Given the description of an element on the screen output the (x, y) to click on. 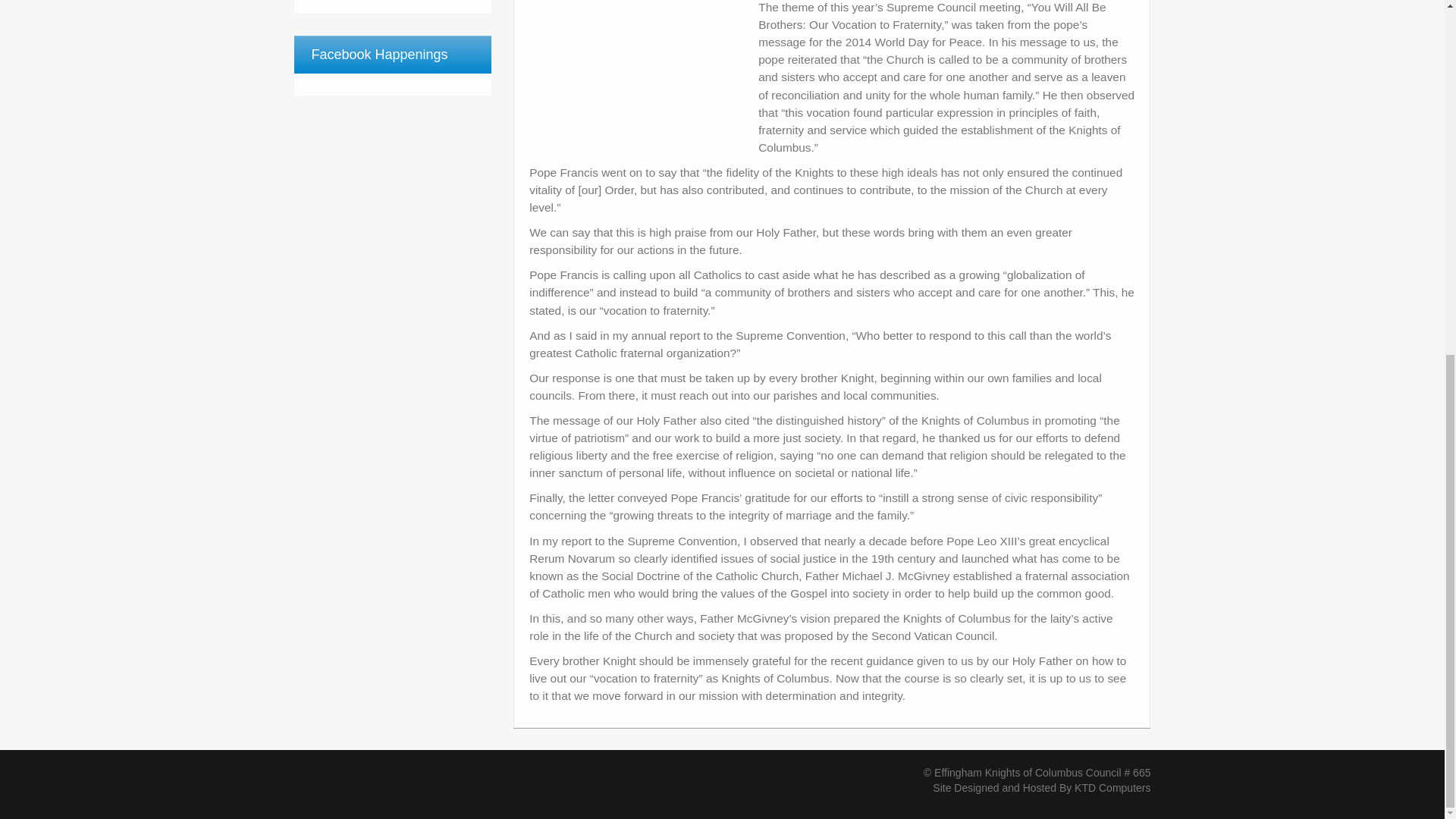
Carl A. Anderson (635, 65)
